Given the description of an element on the screen output the (x, y) to click on. 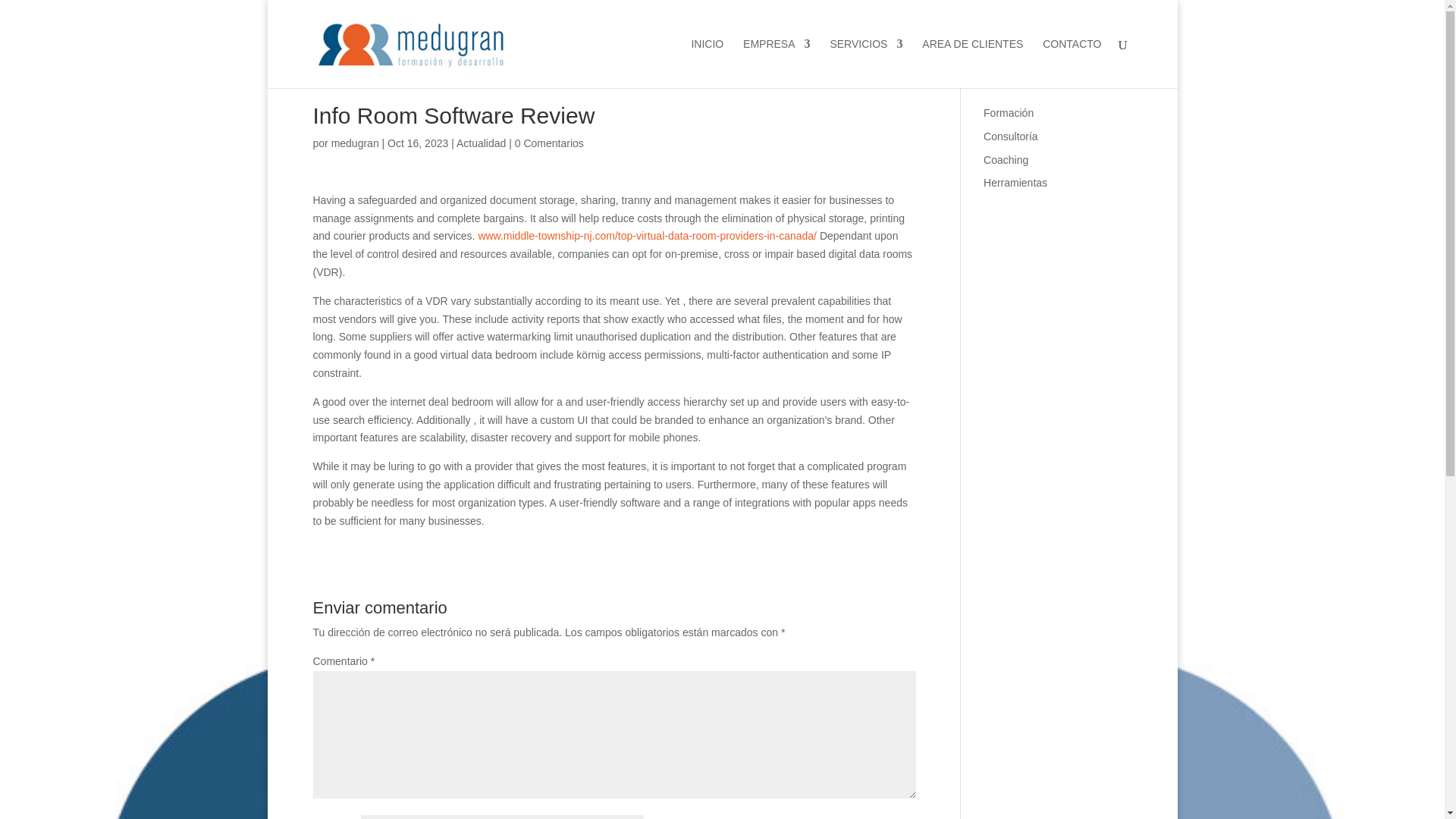
0 Comentarios (549, 143)
Actualidad (481, 143)
EMPRESA (775, 62)
CONTACTO (1071, 62)
AREA DE CLIENTES (972, 62)
Coaching (1005, 159)
Herramientas (1015, 182)
medugran (354, 143)
SERVICIOS (865, 62)
Mensajes de medugran (354, 143)
